Given the description of an element on the screen output the (x, y) to click on. 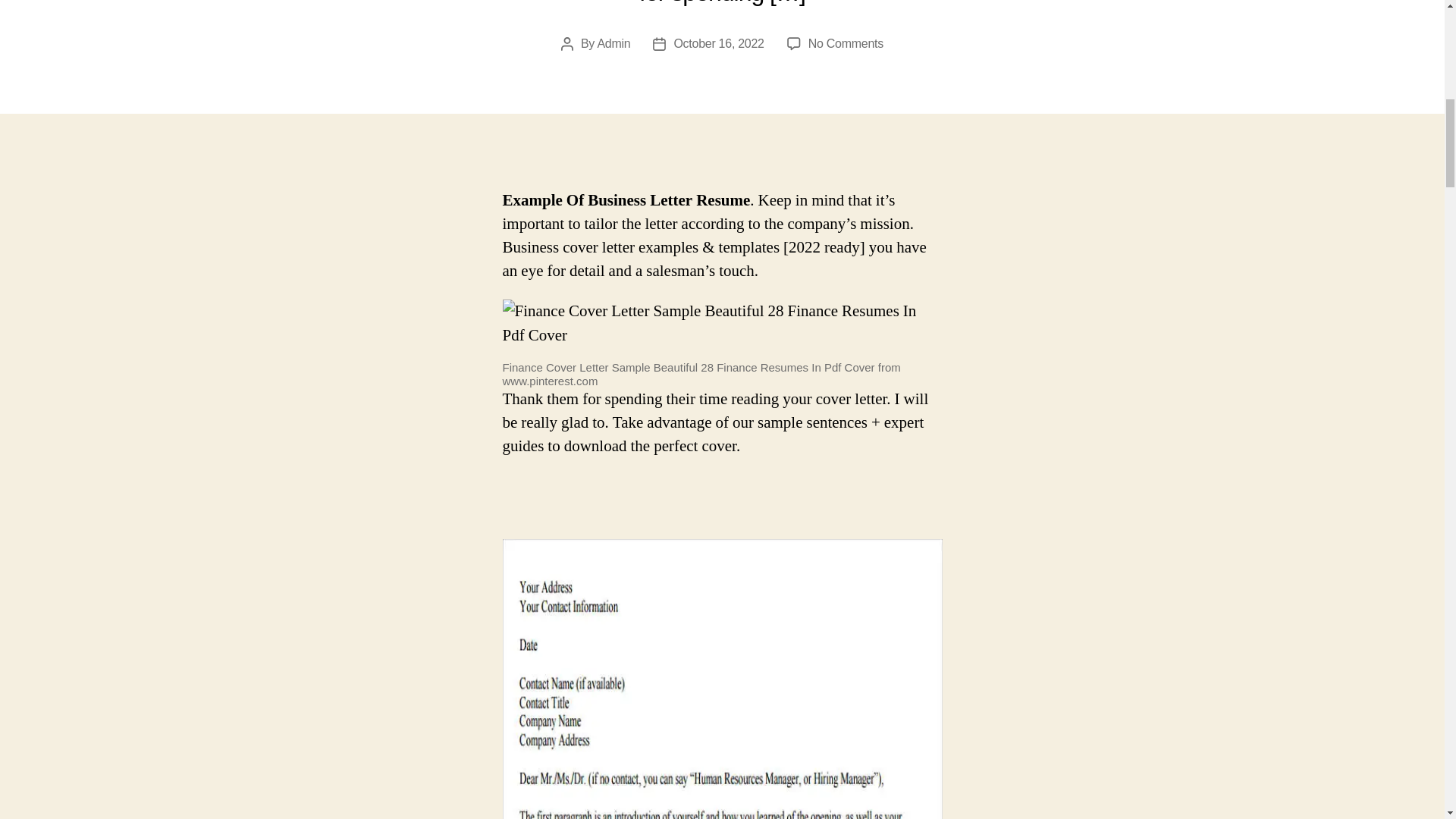
October 16, 2022 (717, 42)
Admin (845, 42)
